Given the description of an element on the screen output the (x, y) to click on. 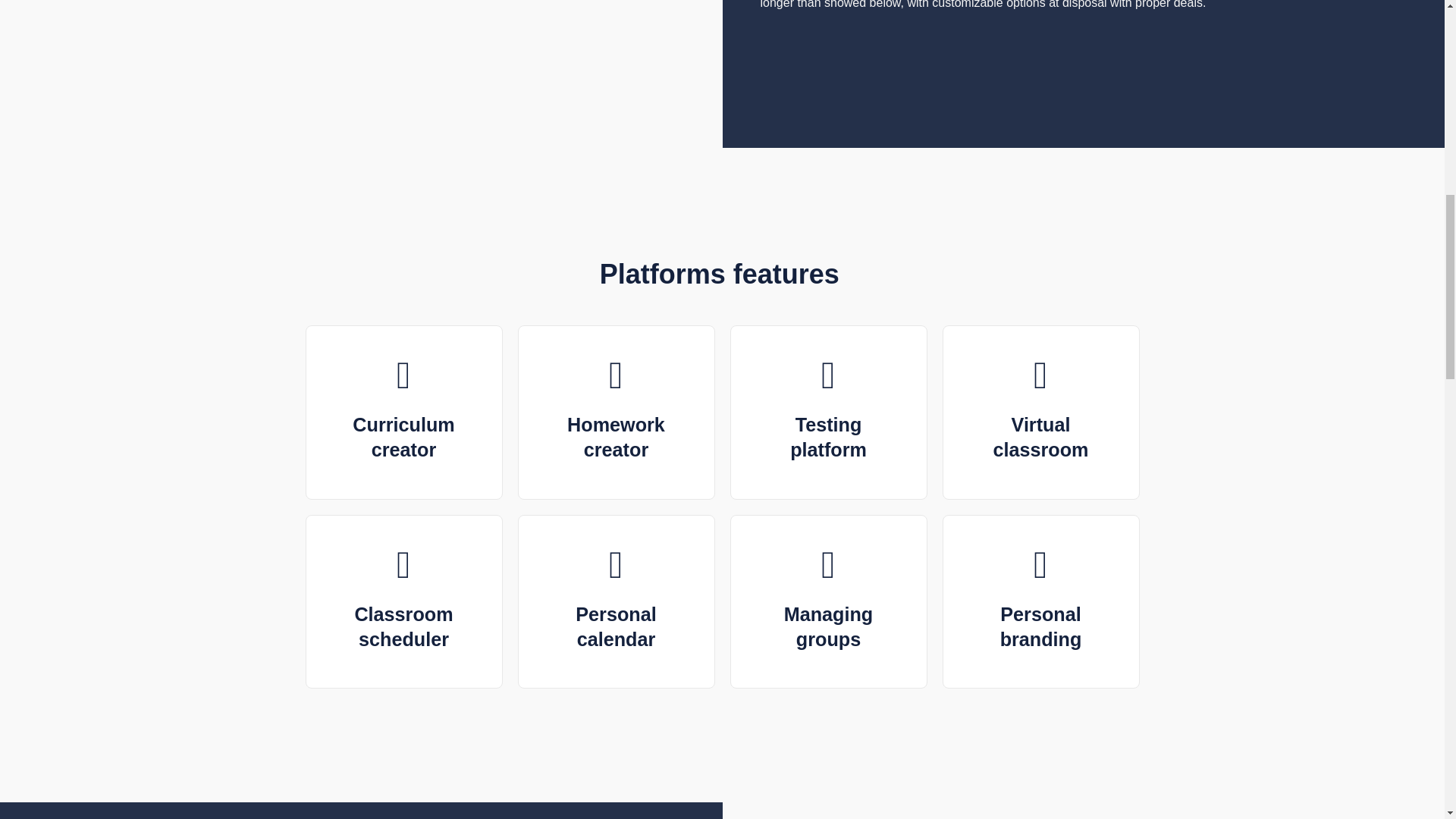
Managing groups (828, 626)
